Given the description of an element on the screen output the (x, y) to click on. 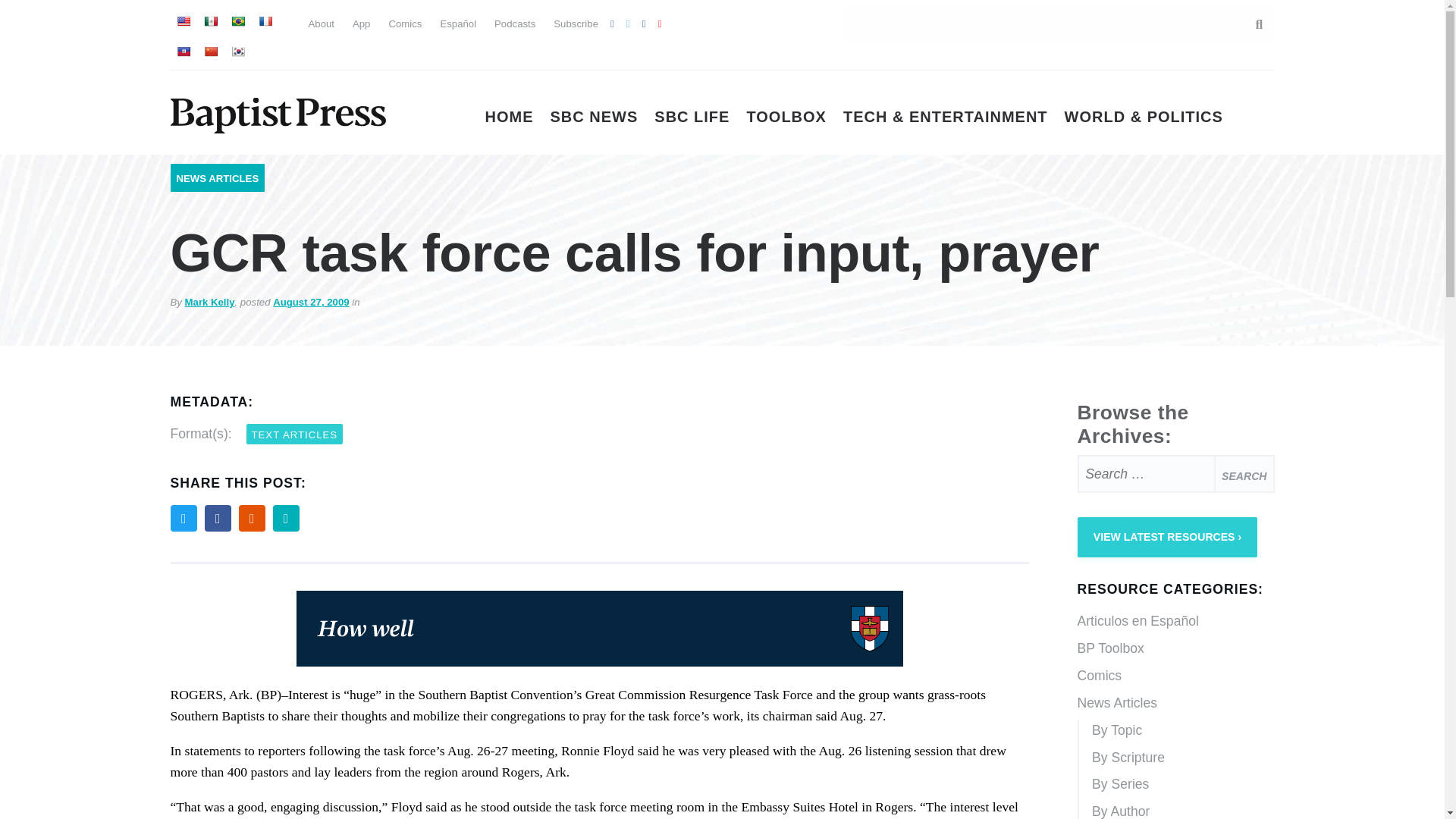
TEXT ARTICLES (294, 434)
Search (1244, 474)
French (263, 21)
Spanish (209, 21)
Search (1244, 474)
Comics (405, 23)
VIEW LATEST RESOURCES (1167, 536)
NEWS ARTICLES (217, 178)
Mark Kelly (209, 301)
Haitian (182, 51)
Korean (237, 51)
App (360, 23)
English (182, 21)
HOME (509, 116)
SBC NEWS (594, 116)
